Given the description of an element on the screen output the (x, y) to click on. 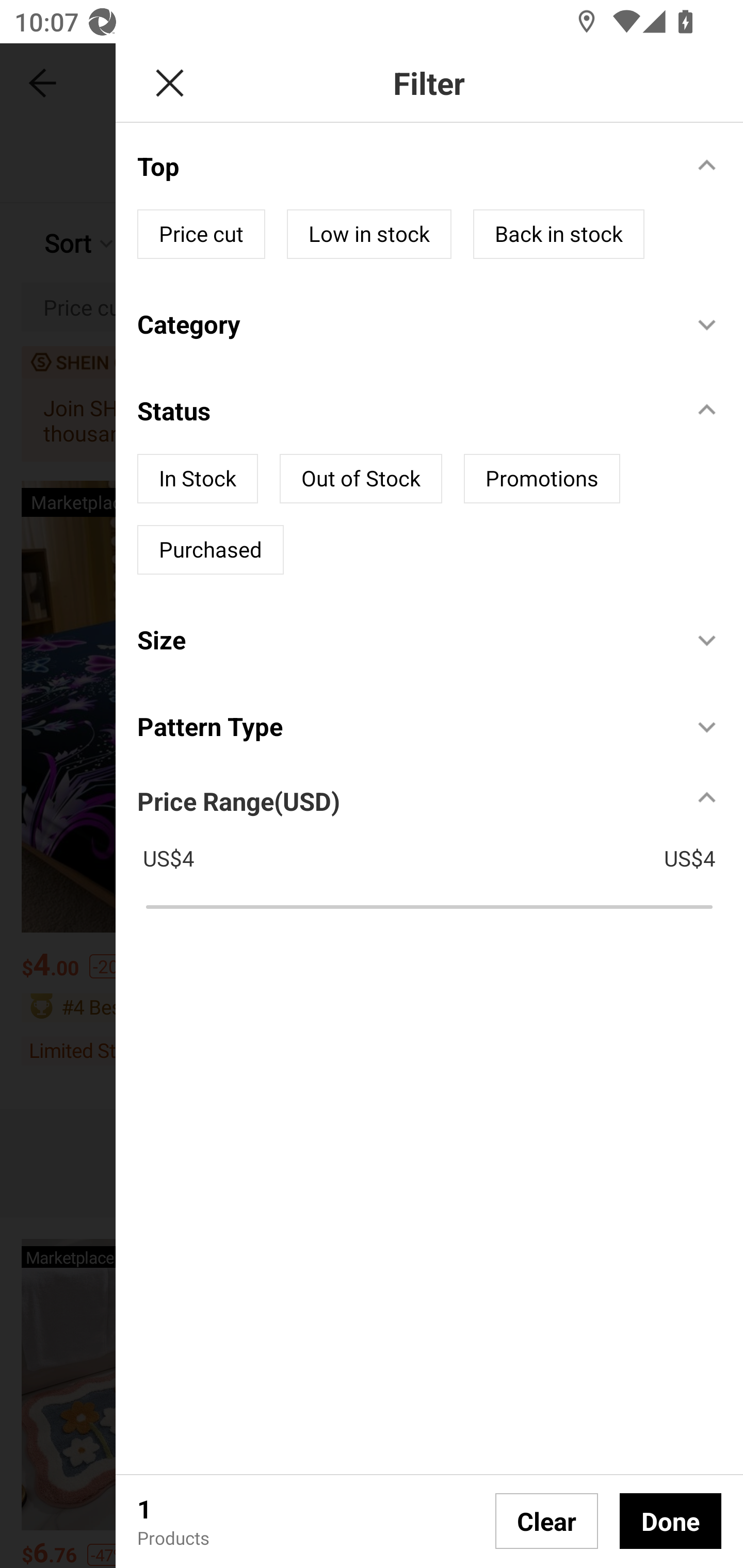
Top (403, 166)
Price cut (201, 234)
Low in stock (368, 234)
Back in stock (558, 234)
Category (403, 323)
Status (403, 410)
In Stock (197, 478)
Out of Stock (360, 478)
Promotions (541, 478)
Purchased (210, 549)
Size (403, 639)
Pattern Type (403, 725)
Price Range(USD) US$4 US$4 (440, 846)
Price Range(USD) (238, 801)
Clear (546, 1520)
Done (670, 1520)
